Given the description of an element on the screen output the (x, y) to click on. 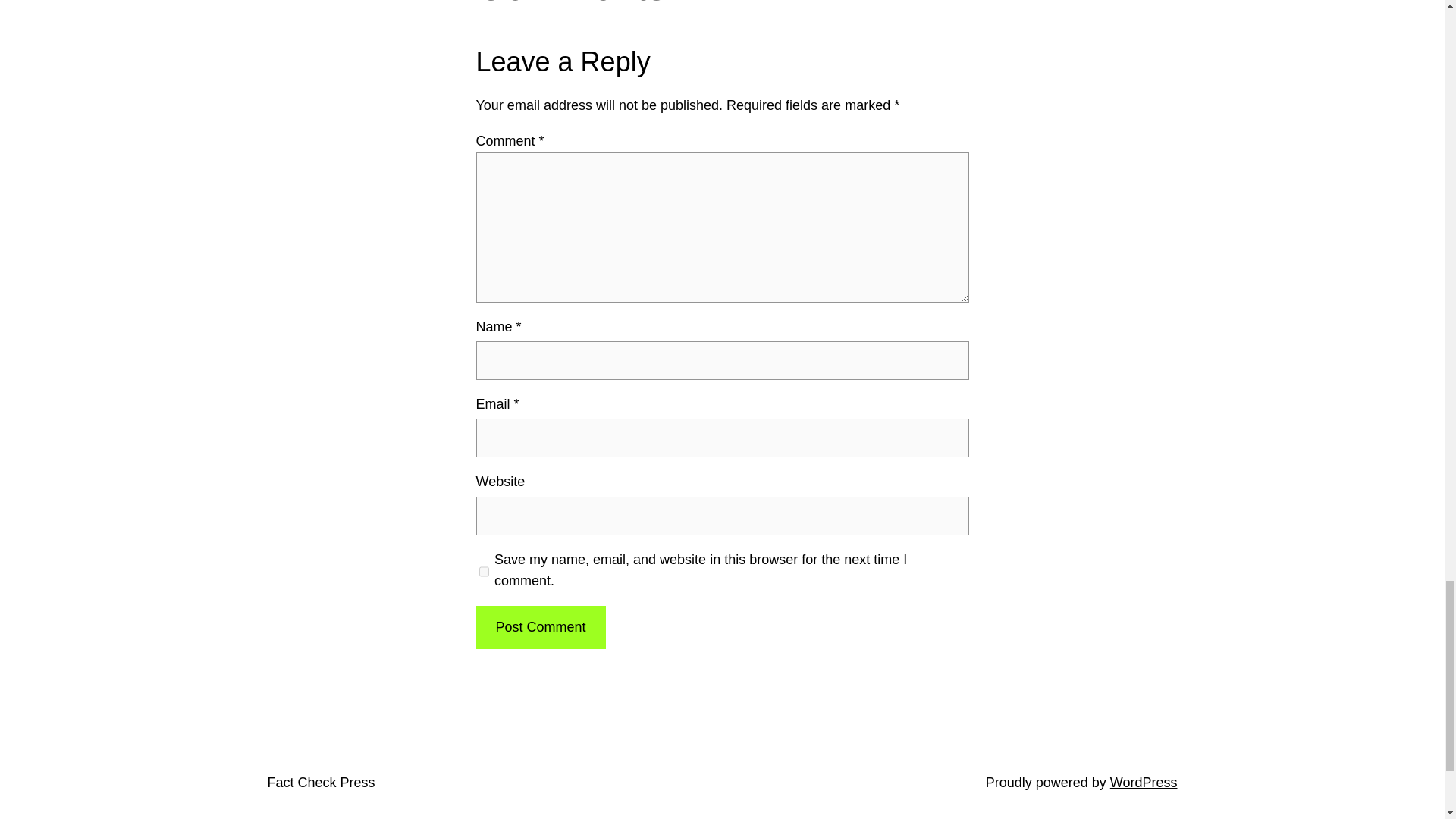
Fact Check Press (320, 782)
Post Comment (540, 627)
WordPress (1143, 782)
Post Comment (540, 627)
